Given the description of an element on the screen output the (x, y) to click on. 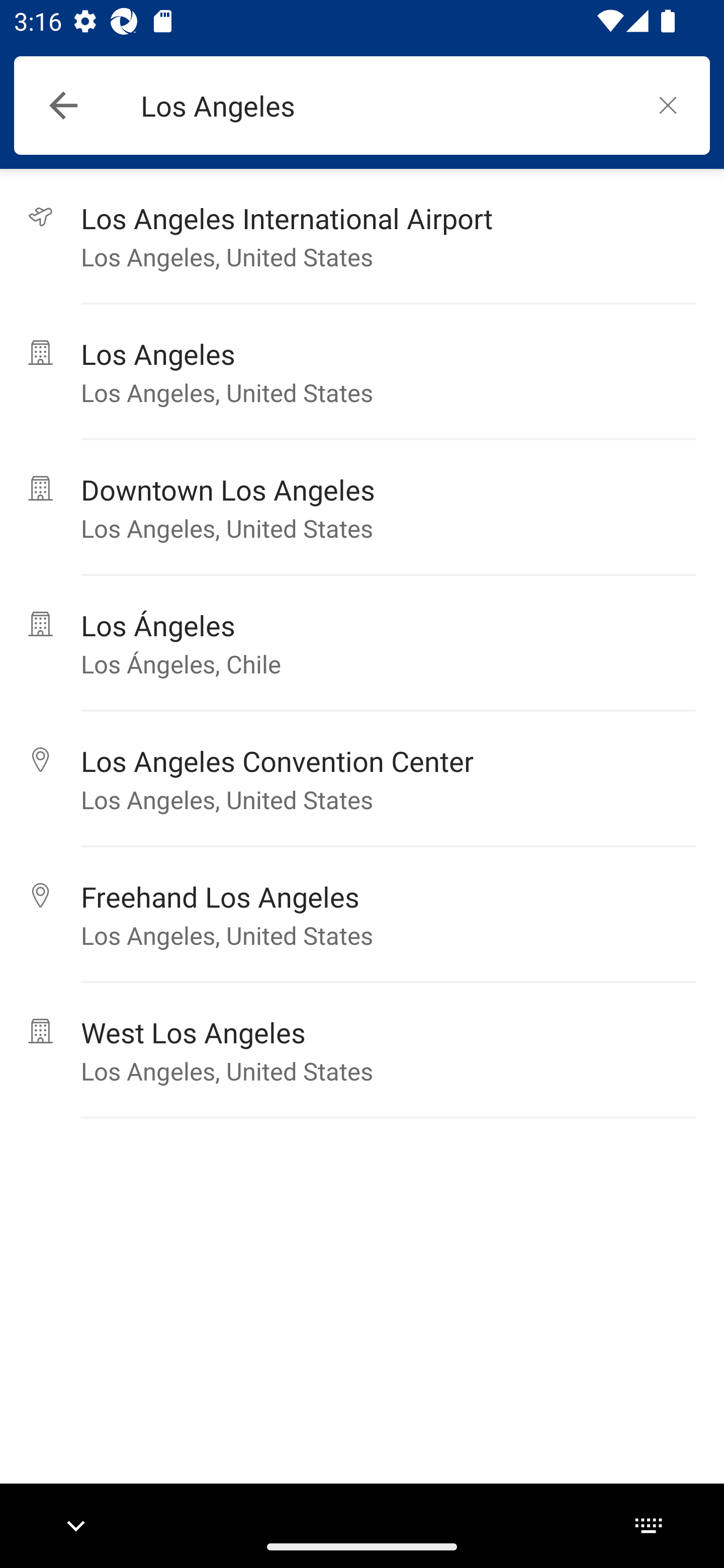
Navigate up (62, 105)
놕 (667, 104)
Los Angeles (382, 105)
넭 Los Angeles Los Angeles, United States (362, 372)
넭 Downtown Los Angeles Los Angeles, United States (362, 507)
넭 Los Ángeles Los Ángeles, Chile (362, 643)
낍 Freehand Los Angeles Los Angeles, United States (362, 914)
넭 West Los Angeles Los Angeles, United States (362, 1050)
